Given the description of an element on the screen output the (x, y) to click on. 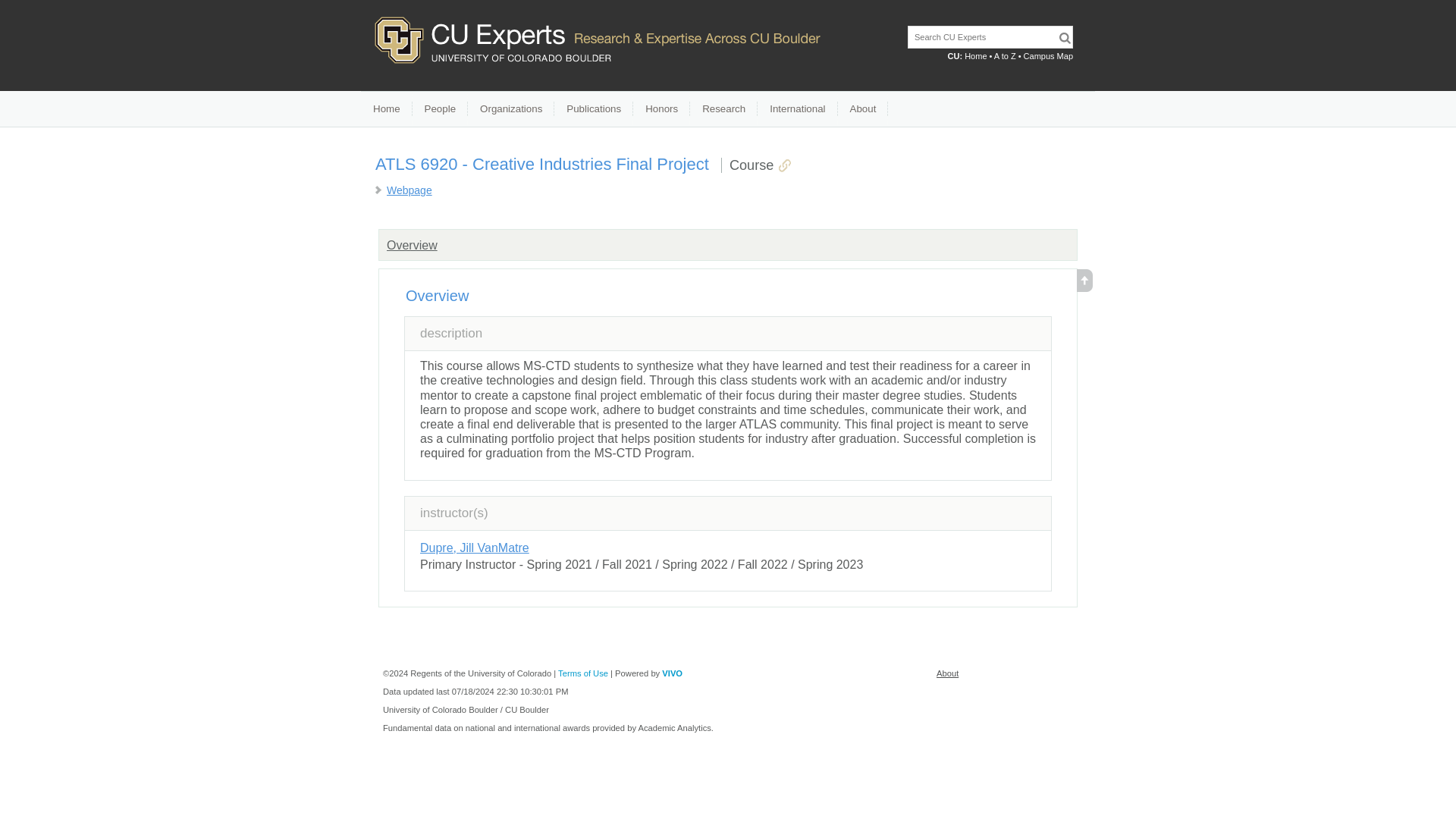
menu item (440, 108)
Terms of Use (582, 673)
menu item (863, 108)
scroll to property group menus (1085, 287)
group name (412, 245)
Home (975, 55)
menu item (510, 108)
powered by VIVO (672, 673)
People (440, 108)
menu item (723, 108)
Campus Map (1048, 55)
About (947, 673)
Dupre, Jill VanMatre (474, 547)
Honors (661, 108)
menu item (593, 108)
